Given the description of an element on the screen output the (x, y) to click on. 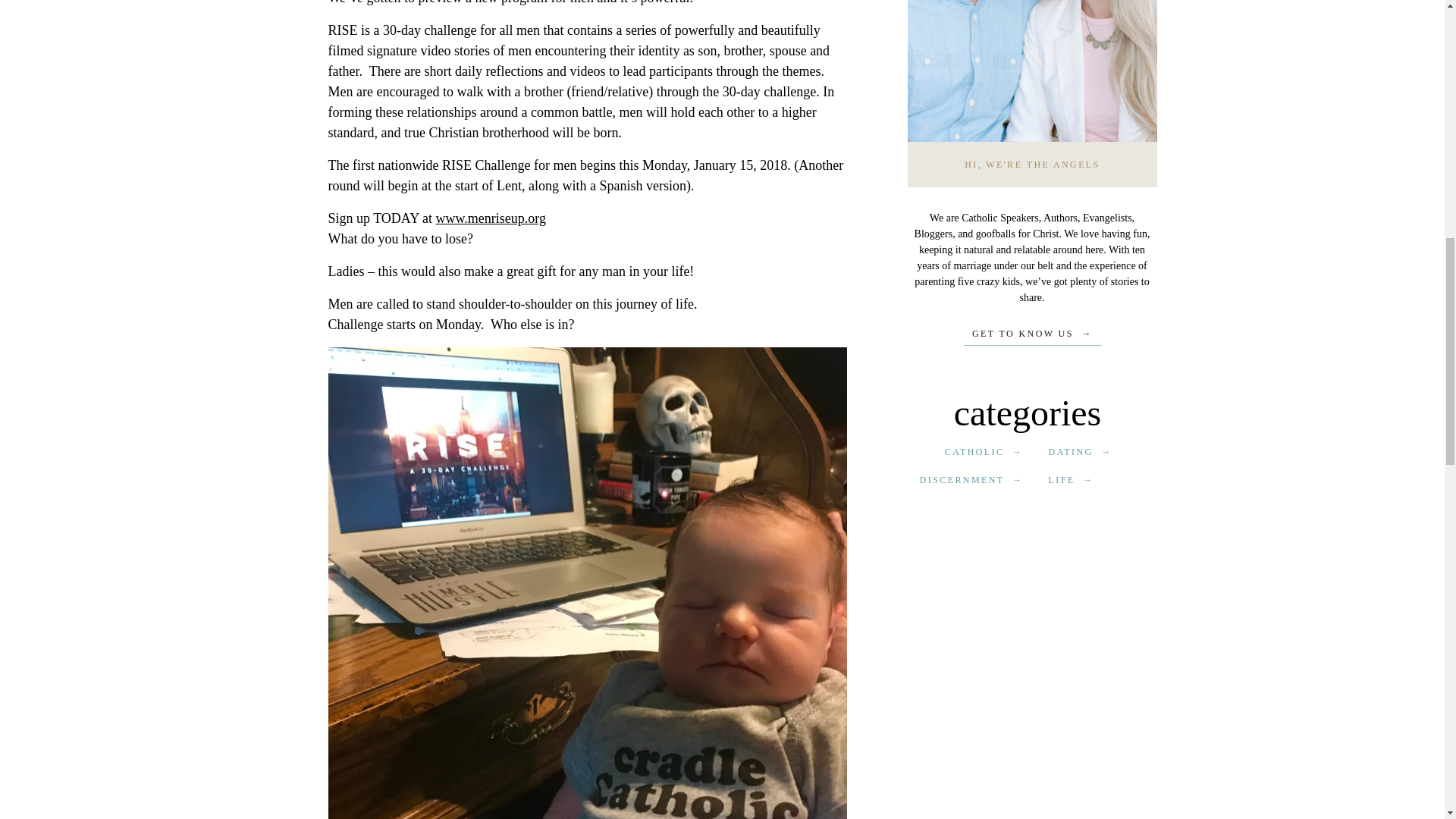
www.menriseup.org (490, 218)
